Given the description of an element on the screen output the (x, y) to click on. 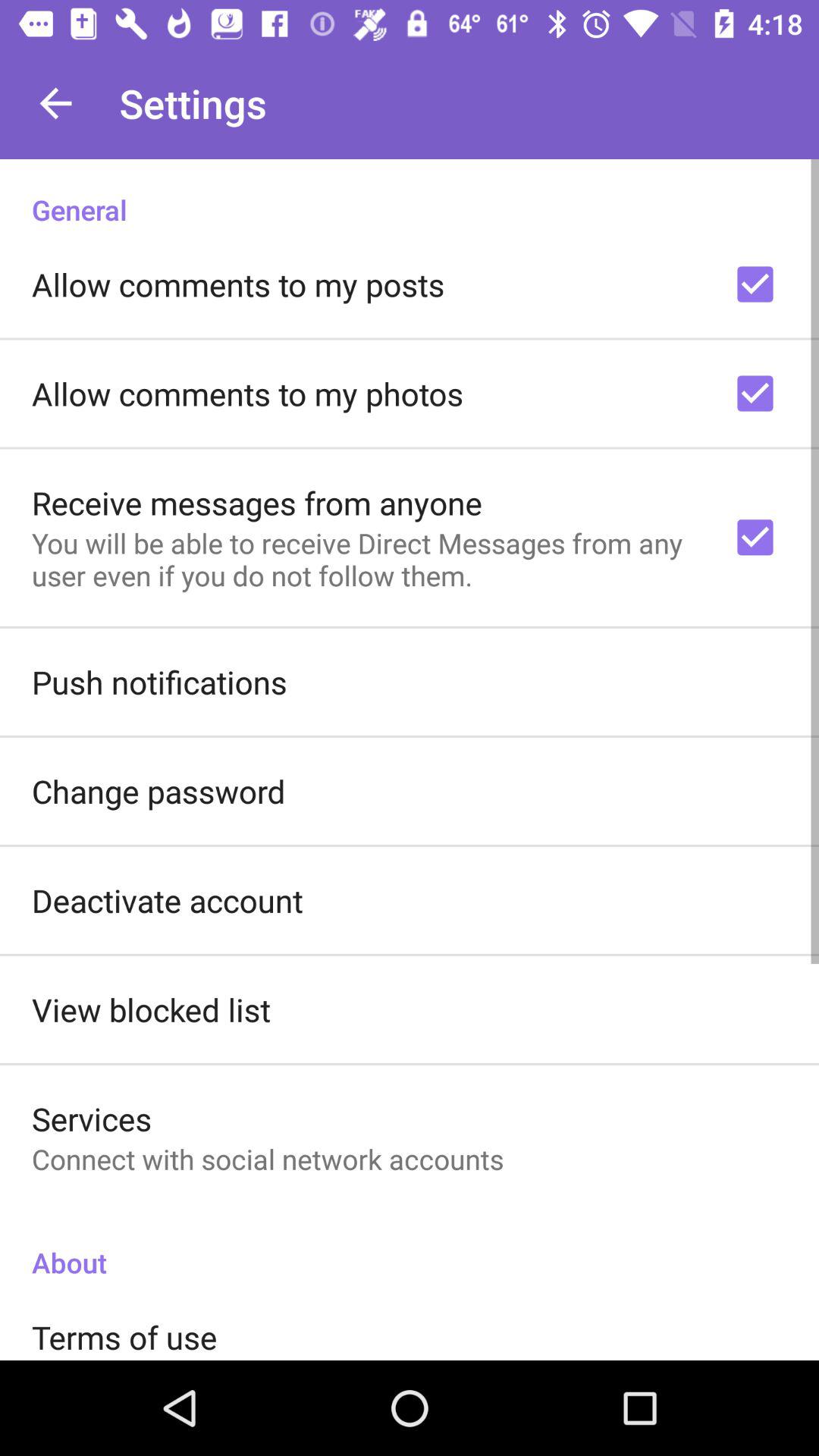
flip to terms of use icon (124, 1336)
